Given the description of an element on the screen output the (x, y) to click on. 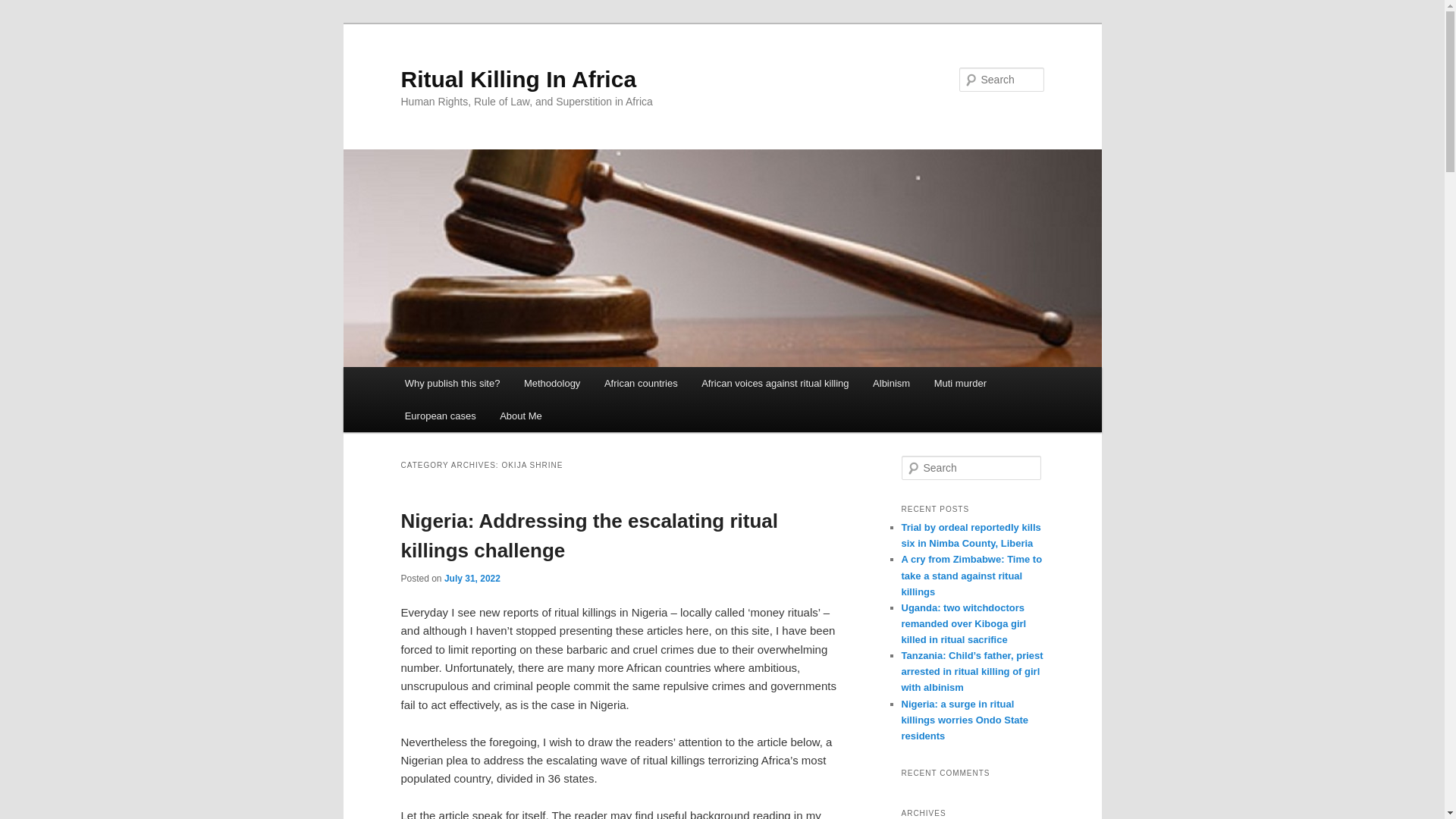
African countries (640, 382)
Methodology (552, 382)
Ritual Killing In Africa (518, 78)
14:07 (472, 578)
Albinism (890, 382)
Why publish this site? (452, 382)
Search (24, 8)
